Given the description of an element on the screen output the (x, y) to click on. 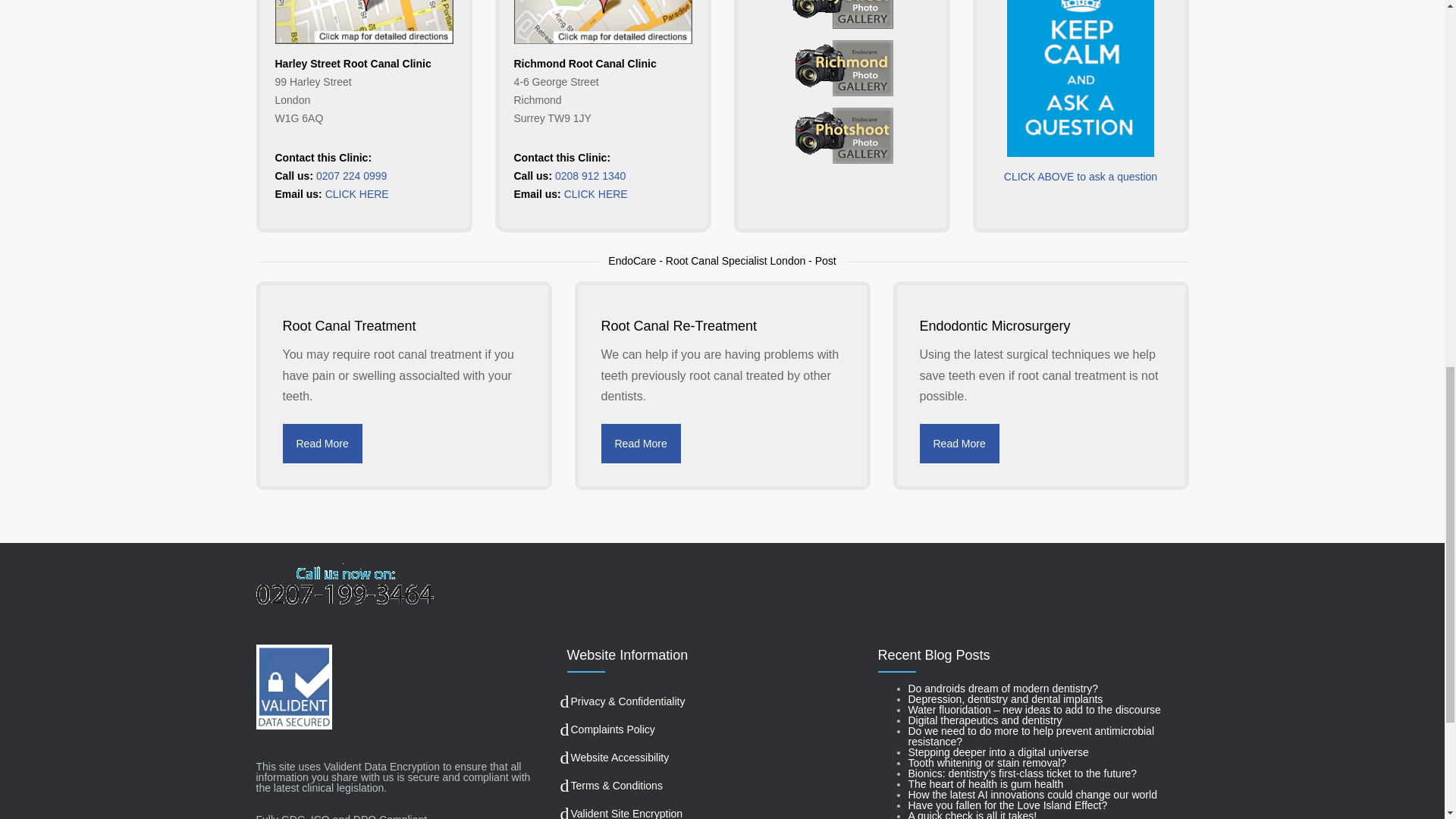
logo-harley-street-gallery (841, 18)
map2 (603, 22)
ask-question-v3 (1080, 78)
map1 (363, 22)
logo-photoshoot-gallery (841, 136)
Read More (321, 443)
logo-richmond-gallery (841, 69)
